Given the description of an element on the screen output the (x, y) to click on. 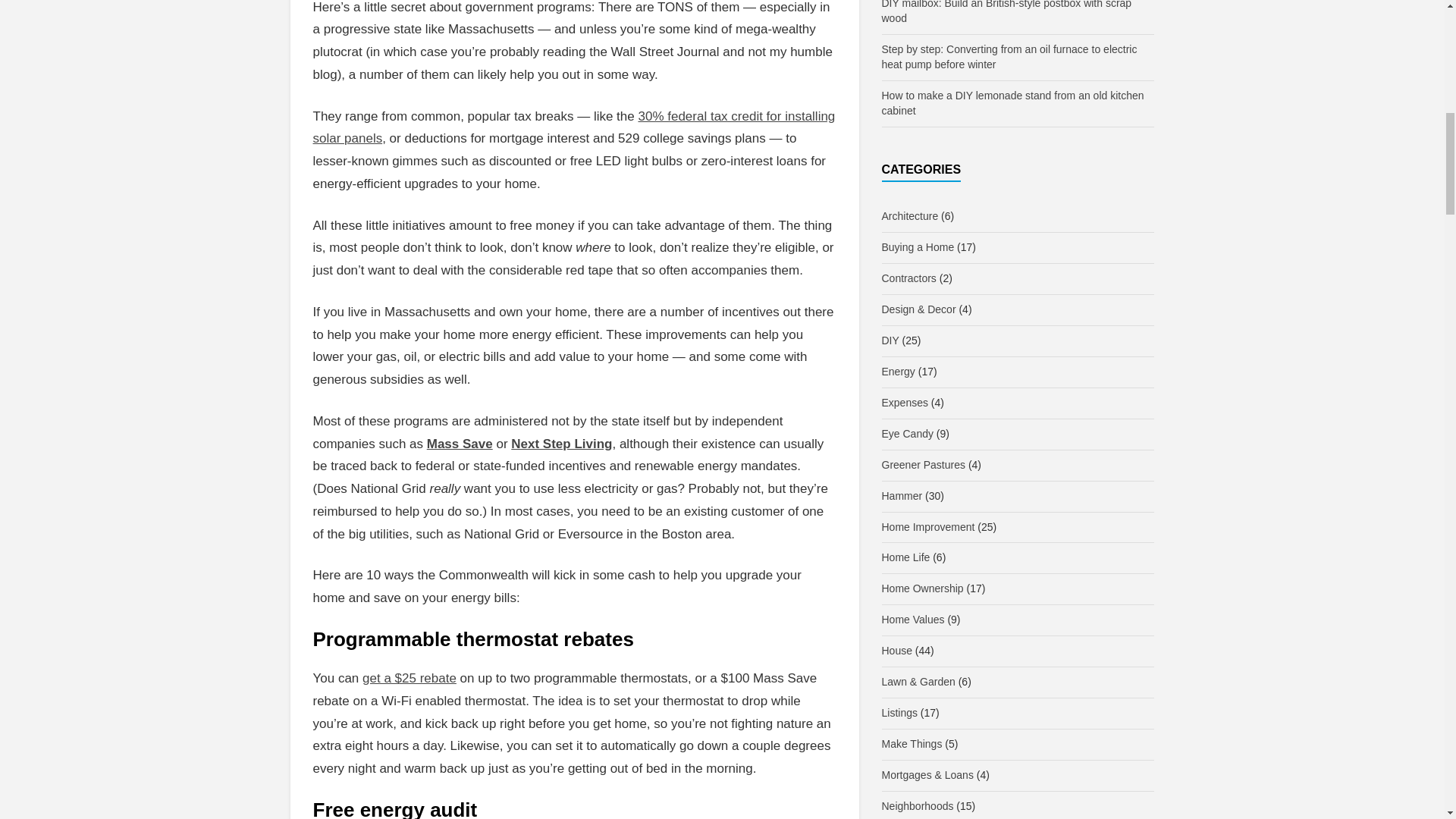
Next Step Living (561, 443)
Mass Save (459, 443)
